Given the description of an element on the screen output the (x, y) to click on. 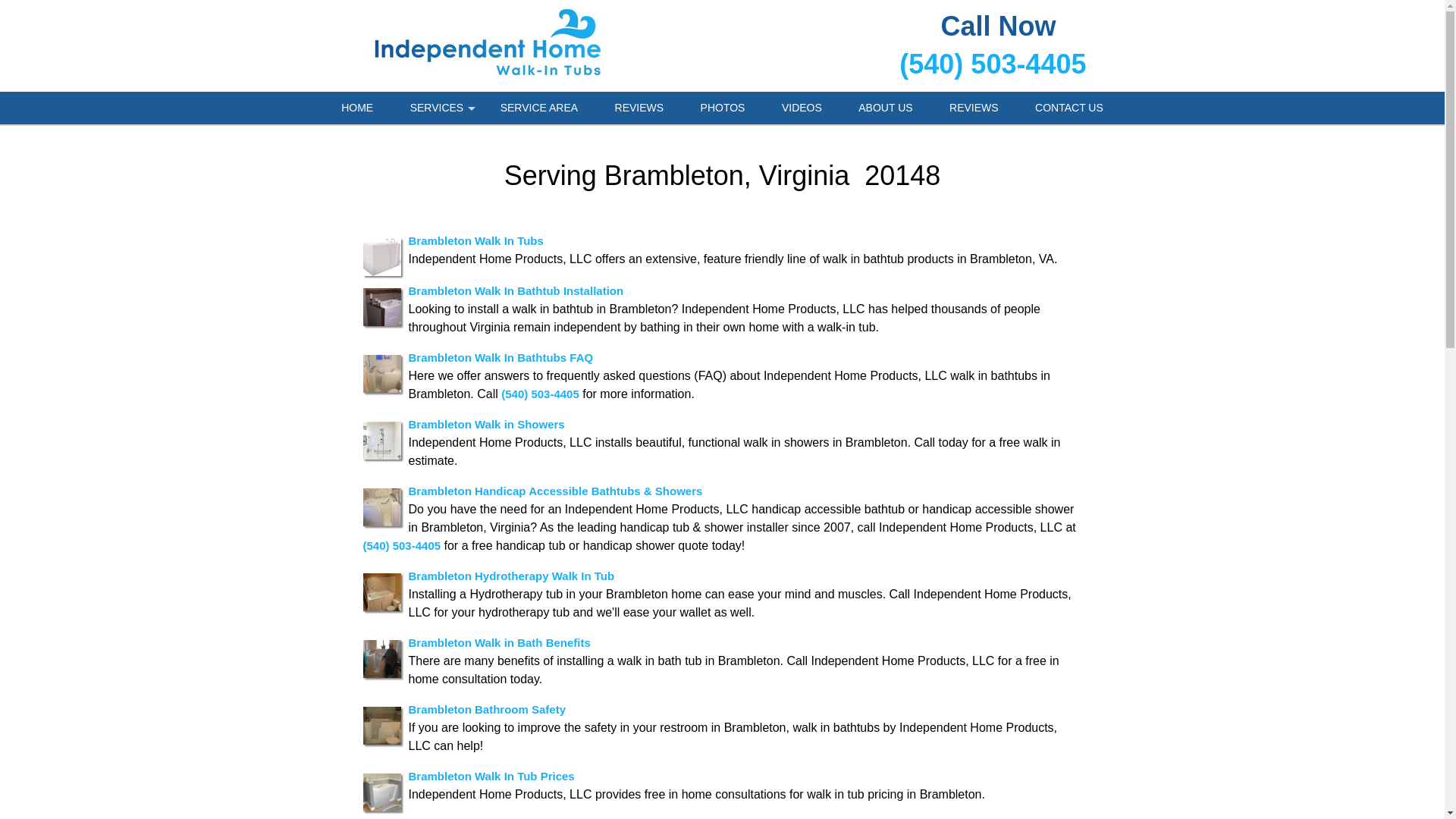
Brambleton Walk In Tubs (475, 239)
Brambleton Bathroom Safety (486, 707)
HOME (357, 107)
VIDEOS (801, 107)
Brambleton Walk In Bathtubs FAQ (499, 356)
REVIEWS (639, 107)
Brambleton Walk In Tub Prices (490, 775)
Brambleton Hydrotherapy Walk In Tub (510, 574)
PHOTOS (722, 107)
CONTACT US (1068, 107)
